Given the description of an element on the screen output the (x, y) to click on. 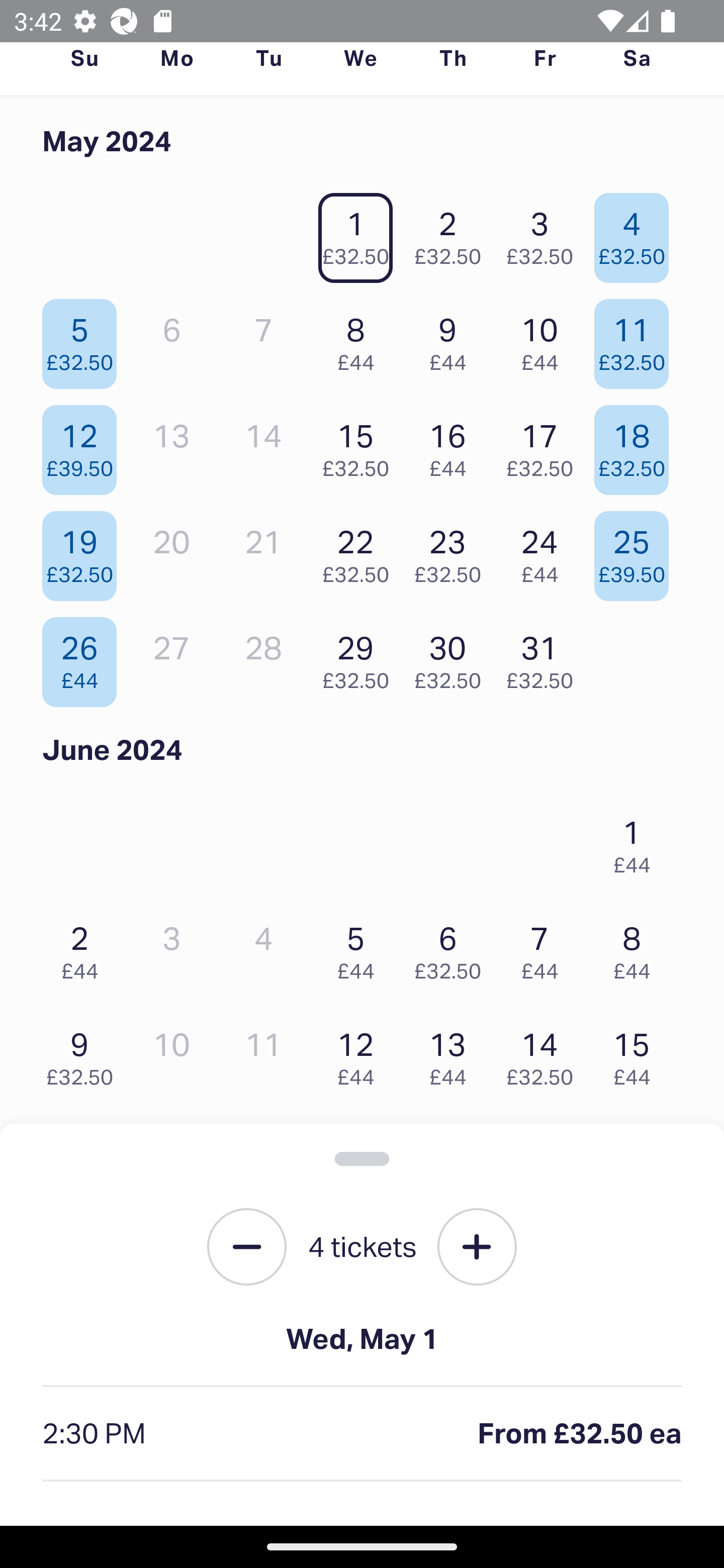
1 £32.50 (360, 232)
2 £32.50 (452, 232)
3 £32.50 (544, 232)
4 £32.50 (636, 232)
5 £32.50 (84, 339)
8 £44 (360, 339)
9 £44 (452, 339)
10 £44 (544, 339)
11 £32.50 (636, 339)
12 £39.50 (84, 445)
15 £32.50 (360, 445)
16 £44 (452, 445)
17 £32.50 (544, 445)
18 £32.50 (636, 445)
19 £32.50 (84, 550)
22 £32.50 (360, 550)
23 £32.50 (452, 550)
24 £44 (544, 550)
25 £39.50 (636, 550)
26 £44 (84, 657)
29 £32.50 (360, 657)
30 £32.50 (452, 657)
31 £32.50 (544, 657)
1 £44 (636, 841)
2 £44 (84, 947)
5 £44 (360, 947)
6 £32.50 (452, 947)
7 £44 (544, 947)
8 £44 (636, 947)
9 £32.50 (84, 1054)
12 £44 (360, 1054)
13 £44 (452, 1054)
14 £32.50 (544, 1054)
15 £44 (636, 1054)
2:30 PM From £32.50 ea (361, 1434)
